Given the description of an element on the screen output the (x, y) to click on. 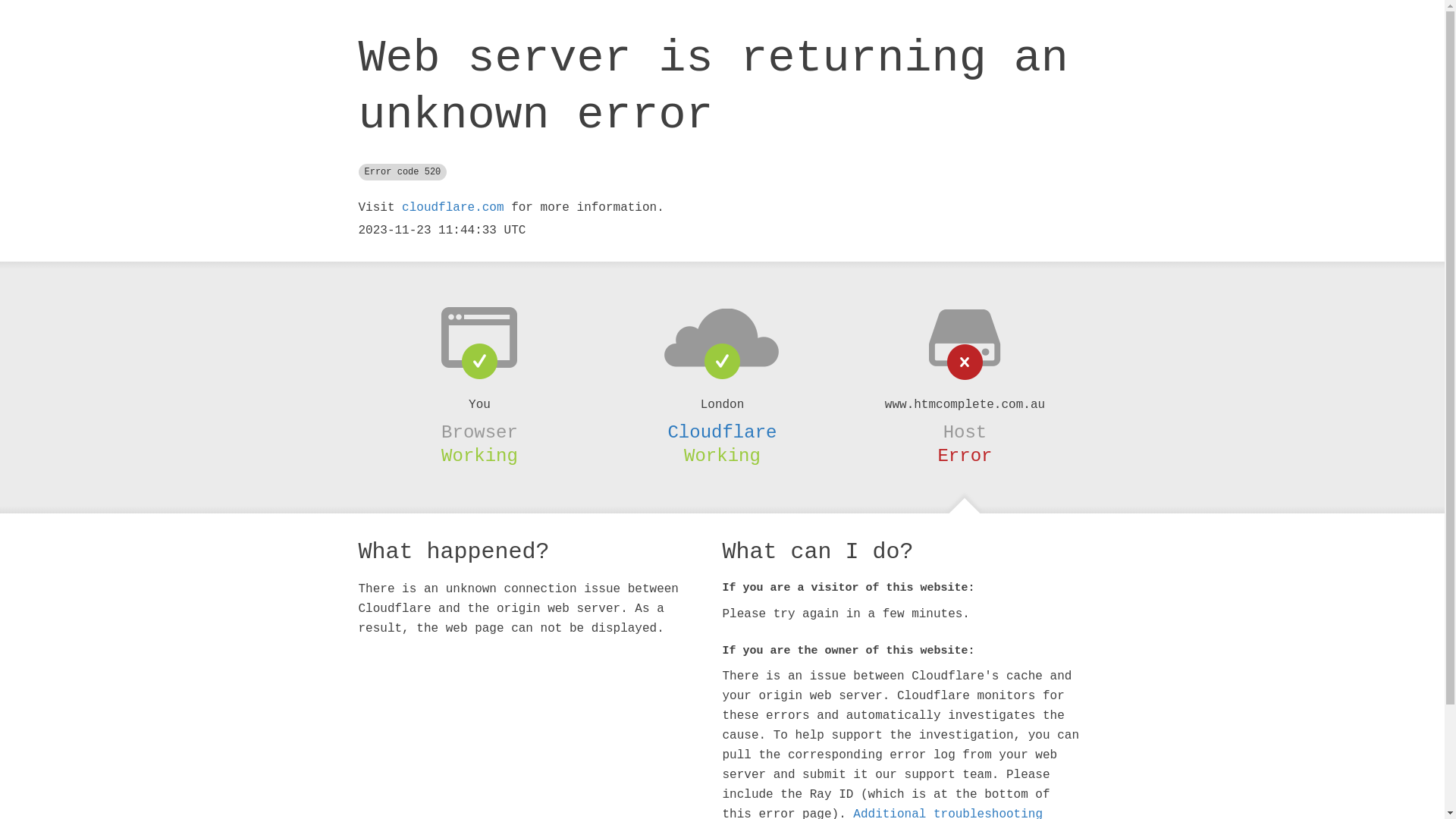
cloudflare.com Element type: text (452, 207)
Cloudflare Element type: text (721, 432)
